Given the description of an element on the screen output the (x, y) to click on. 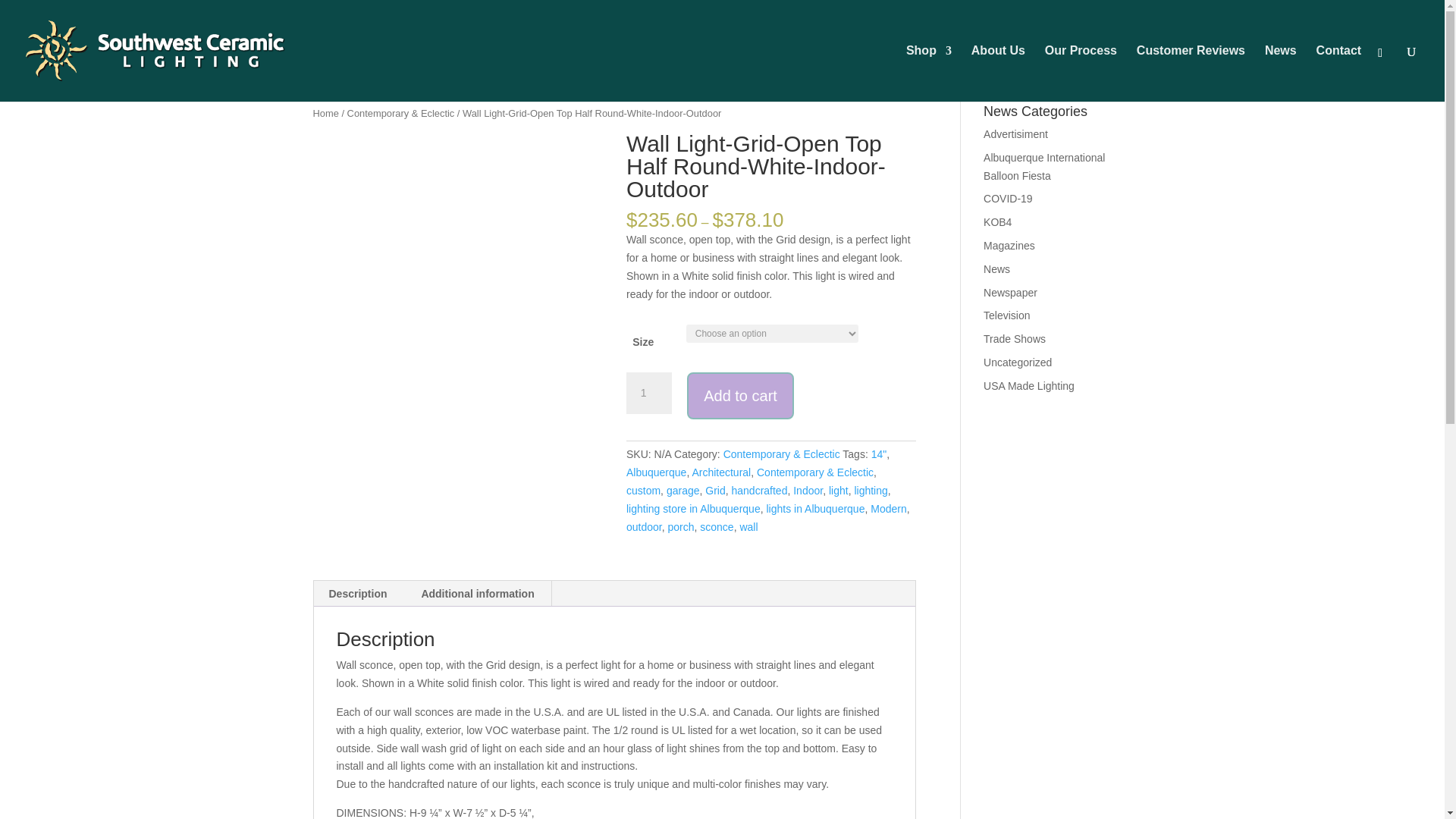
garage (683, 490)
custom (643, 490)
Architectural (721, 472)
lighting (869, 490)
light (838, 490)
Grid (714, 490)
Our Process (1080, 73)
Home (325, 112)
handcrafted (758, 490)
Customer Reviews (1190, 73)
